Given the description of an element on the screen output the (x, y) to click on. 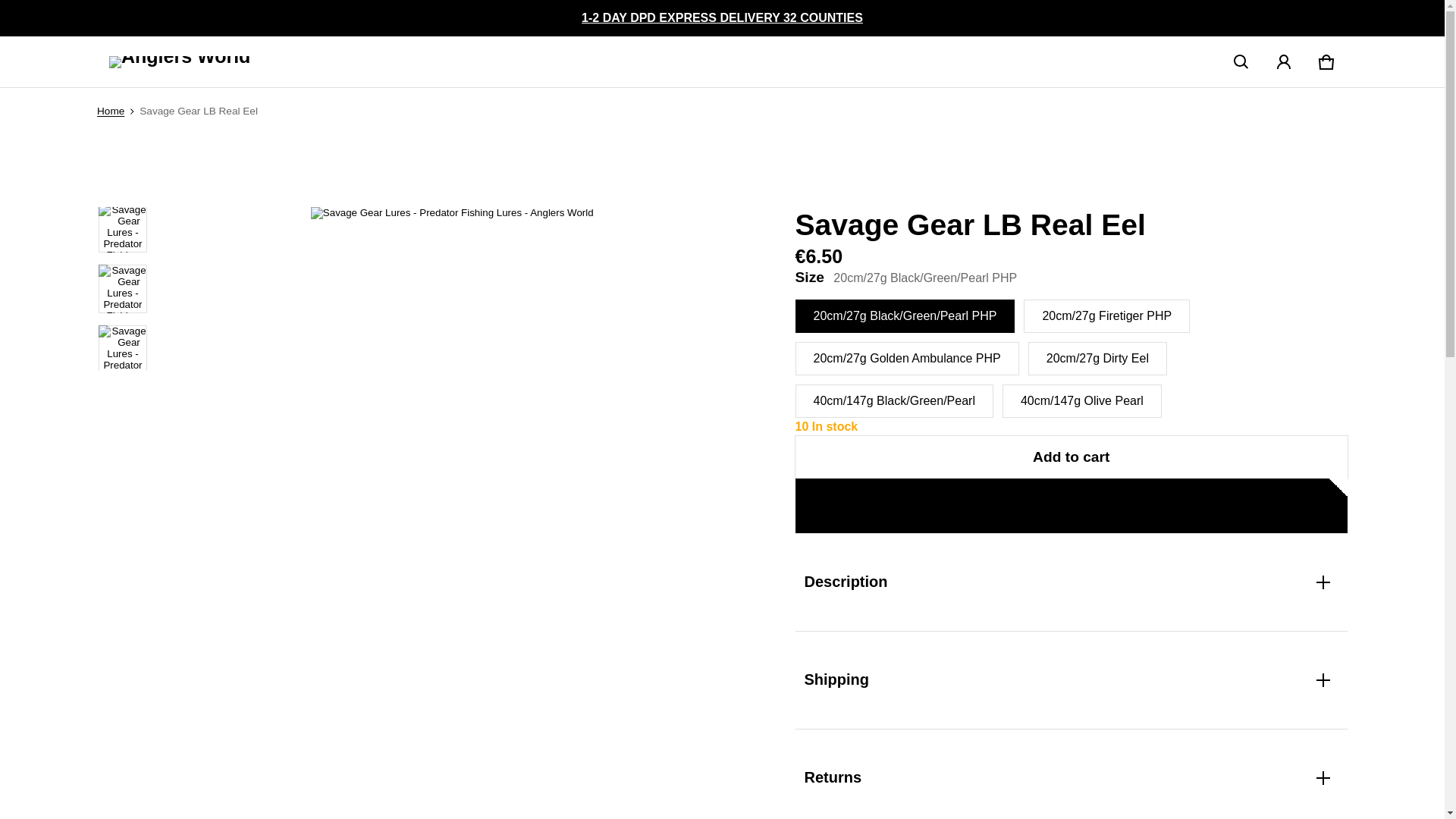
1-2 DAY DPD EXPRESS DELIVERY 32 COUNTIES (721, 17)
1-2 DAY DPD EXPRESS DELIVERY 32 COUNTIES (721, 18)
1-2 DAY DPD EXPRESS DELIVERY 32 COUNTIES (721, 18)
